Given the description of an element on the screen output the (x, y) to click on. 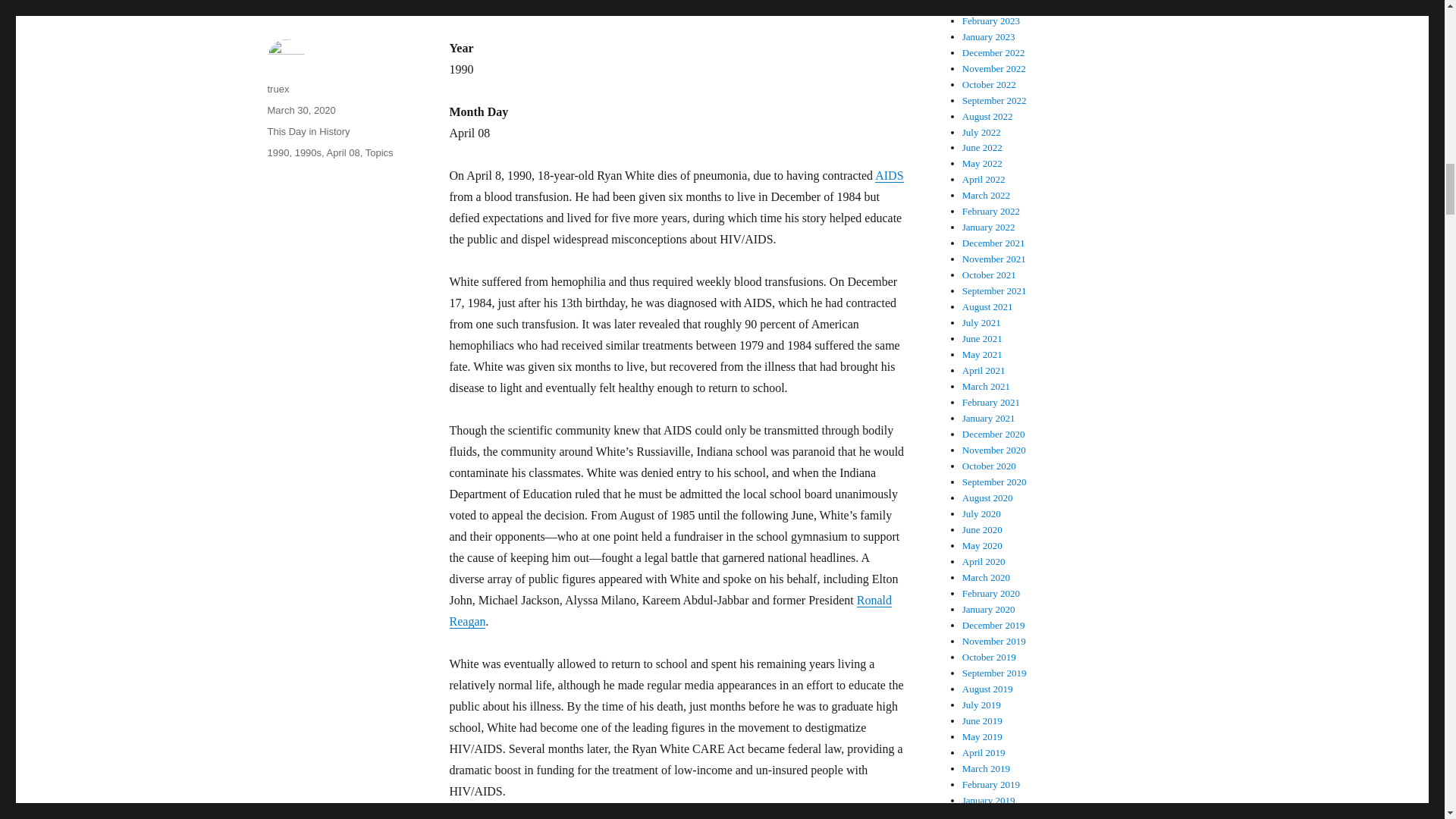
AIDS (888, 174)
